Given the description of an element on the screen output the (x, y) to click on. 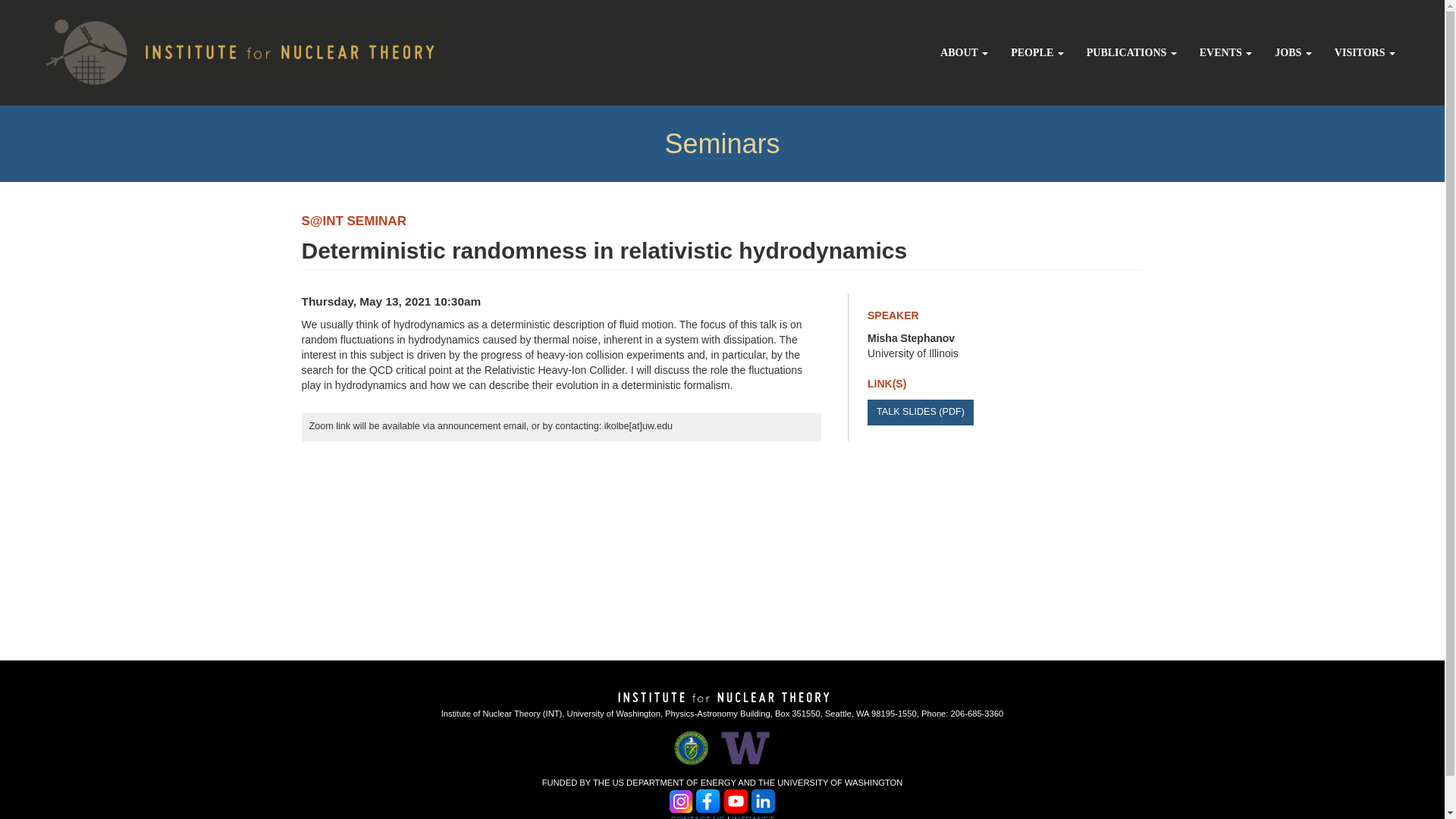
ABOUT (963, 53)
EVENTS (1225, 53)
JOBS (1293, 53)
PUBLICATIONS (1131, 53)
PEOPLE (1036, 53)
Home (224, 49)
Contact Us (697, 816)
